Given the description of an element on the screen output the (x, y) to click on. 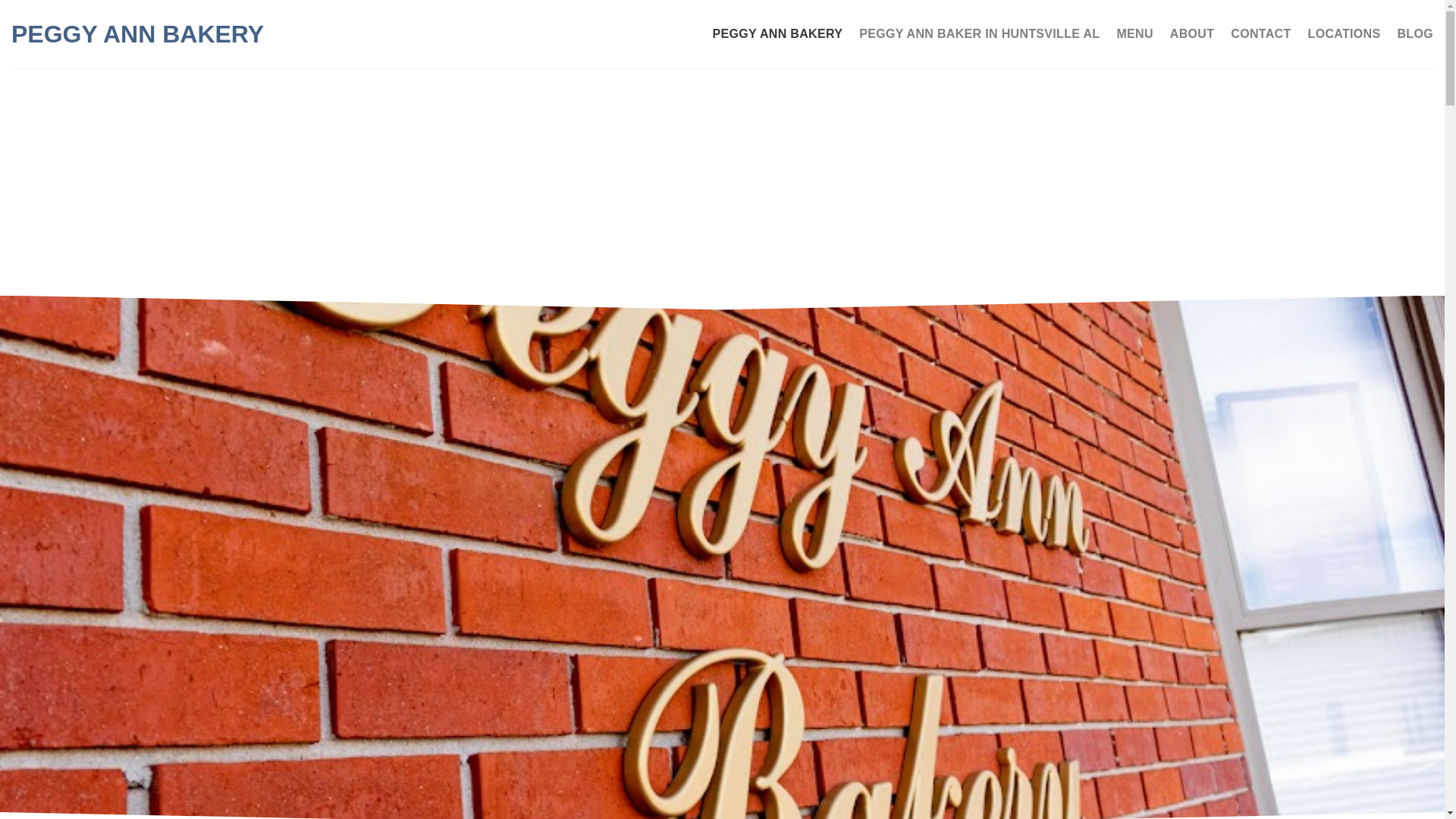
CONTACT (1260, 33)
Peggy Ann Bakery - Treats and Fond Memories (169, 33)
LOCATIONS (1343, 33)
BLOG (1414, 33)
PEGGY ANN BAKERY (169, 33)
PEGGY ANN BAKER IN HUNTSVILLE AL (979, 33)
ABOUT (1192, 33)
PEGGY ANN BAKERY (778, 33)
MENU (1134, 33)
